Given the description of an element on the screen output the (x, y) to click on. 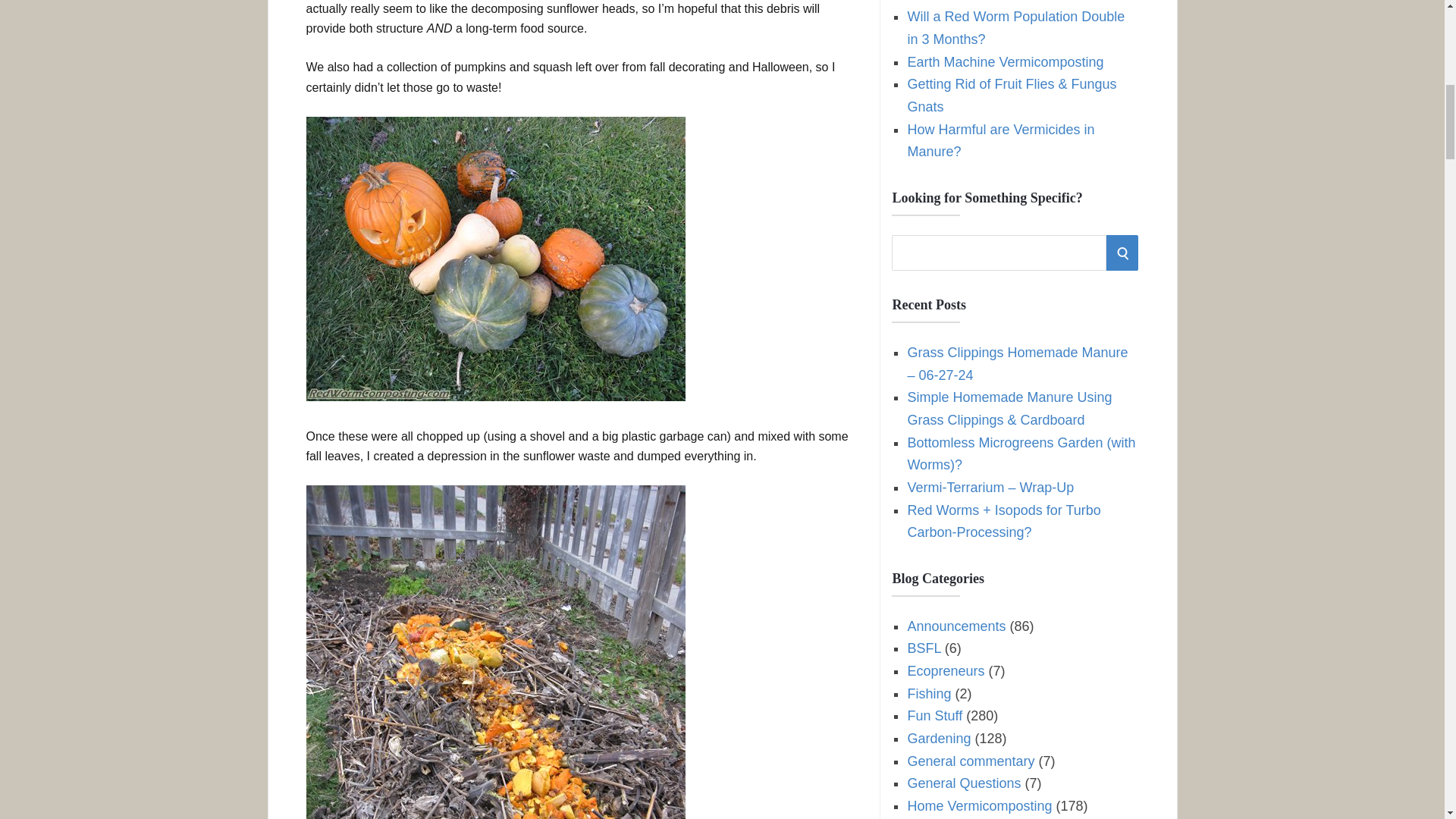
The Insurance Bin (962, 1)
Earth Machine Vermicomposting (1005, 61)
How Harmful are Vermicides in Manure? (1000, 140)
Will a Red Worm Population Double in 3 Months? (1015, 27)
